Given the description of an element on the screen output the (x, y) to click on. 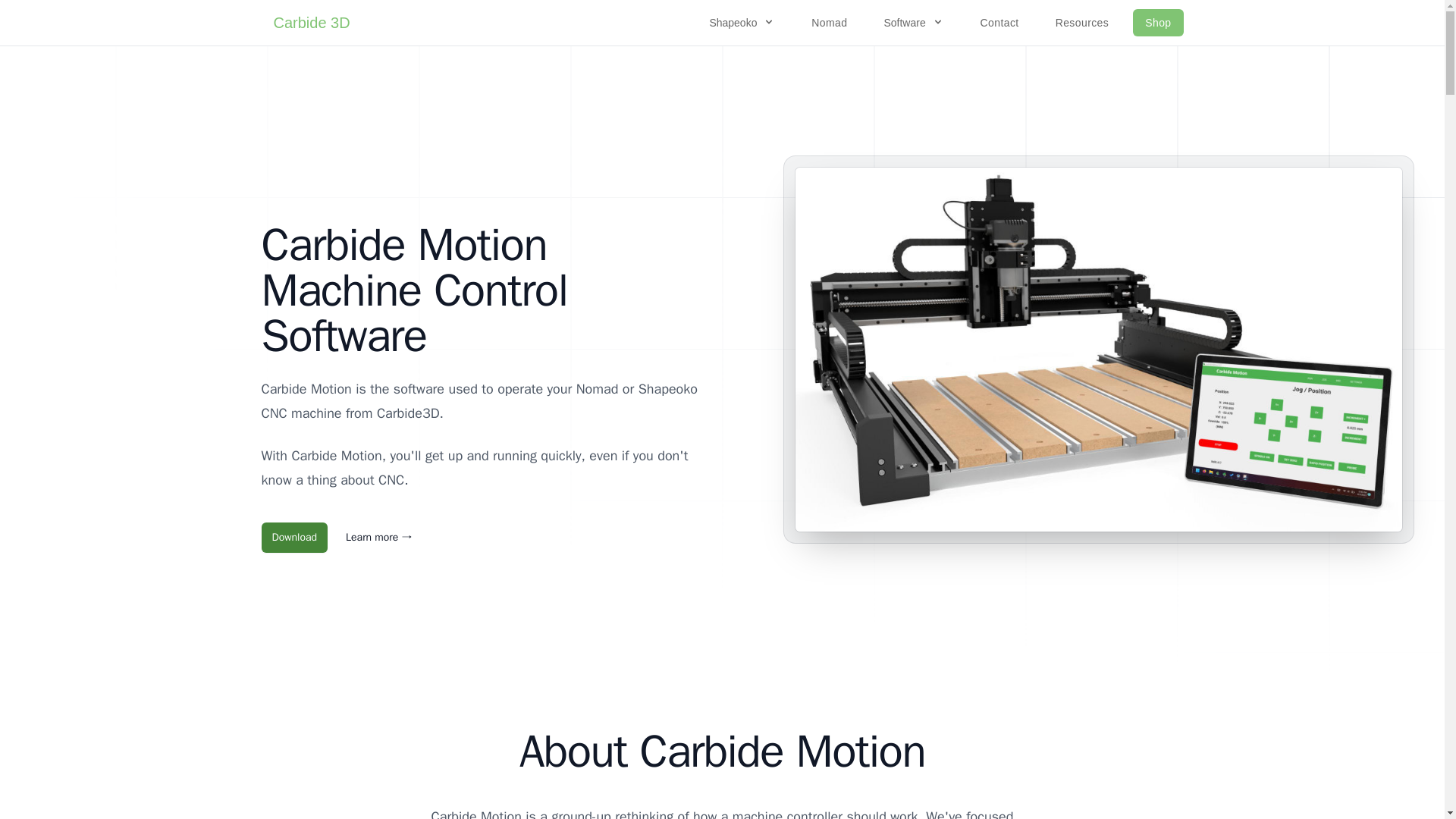
Download (293, 537)
Nomad (829, 22)
Carbide 3D (311, 22)
Resources (1082, 22)
Shop (1157, 22)
Shapeoko (742, 22)
Software (912, 22)
Contact (999, 22)
